Given the description of an element on the screen output the (x, y) to click on. 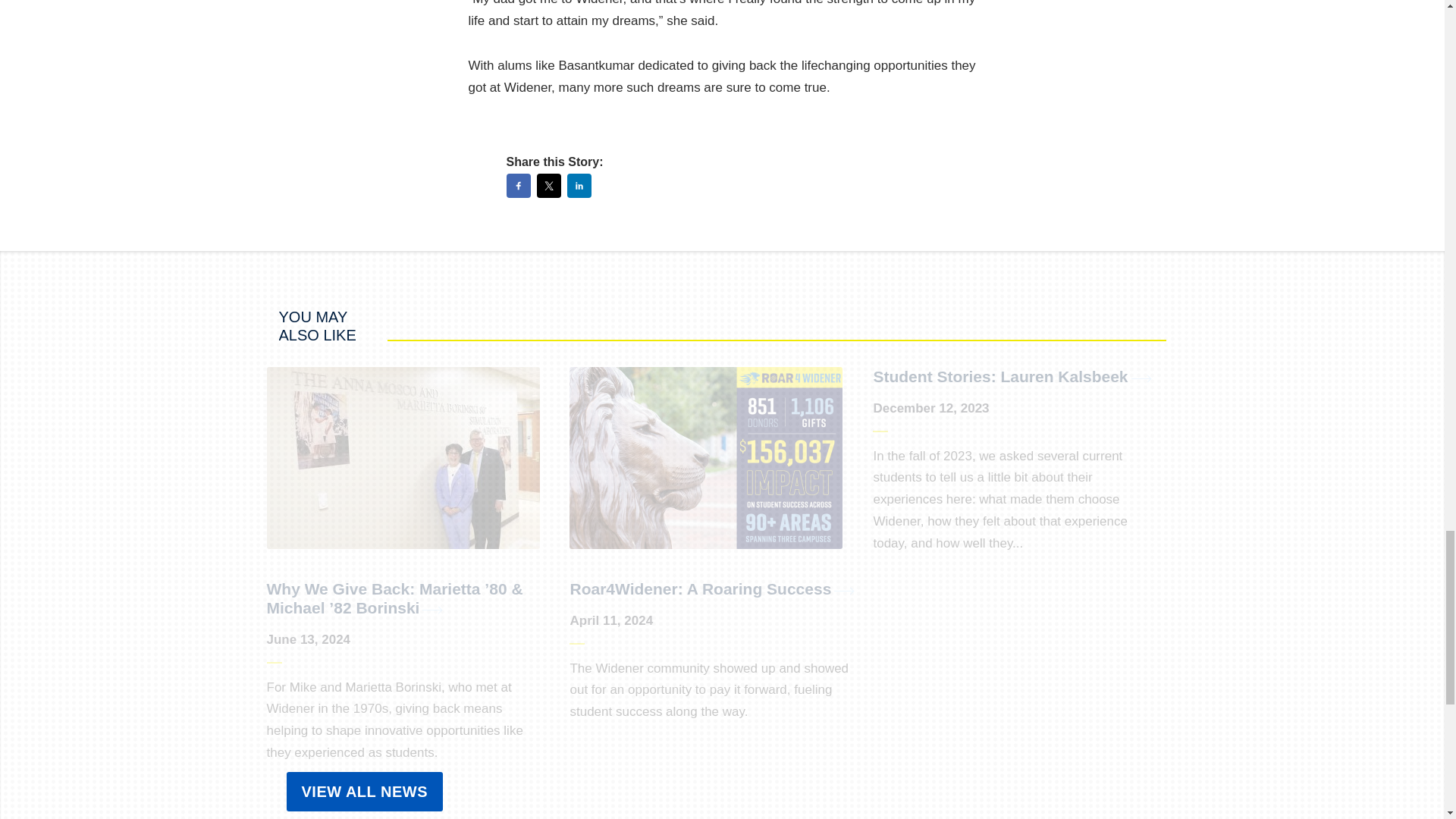
VIEW ALL NEWS (365, 791)
Student Stories: Lauren Kalsbeek (999, 375)
Roar4Widener: A Roaring Success (700, 588)
